Given the description of an element on the screen output the (x, y) to click on. 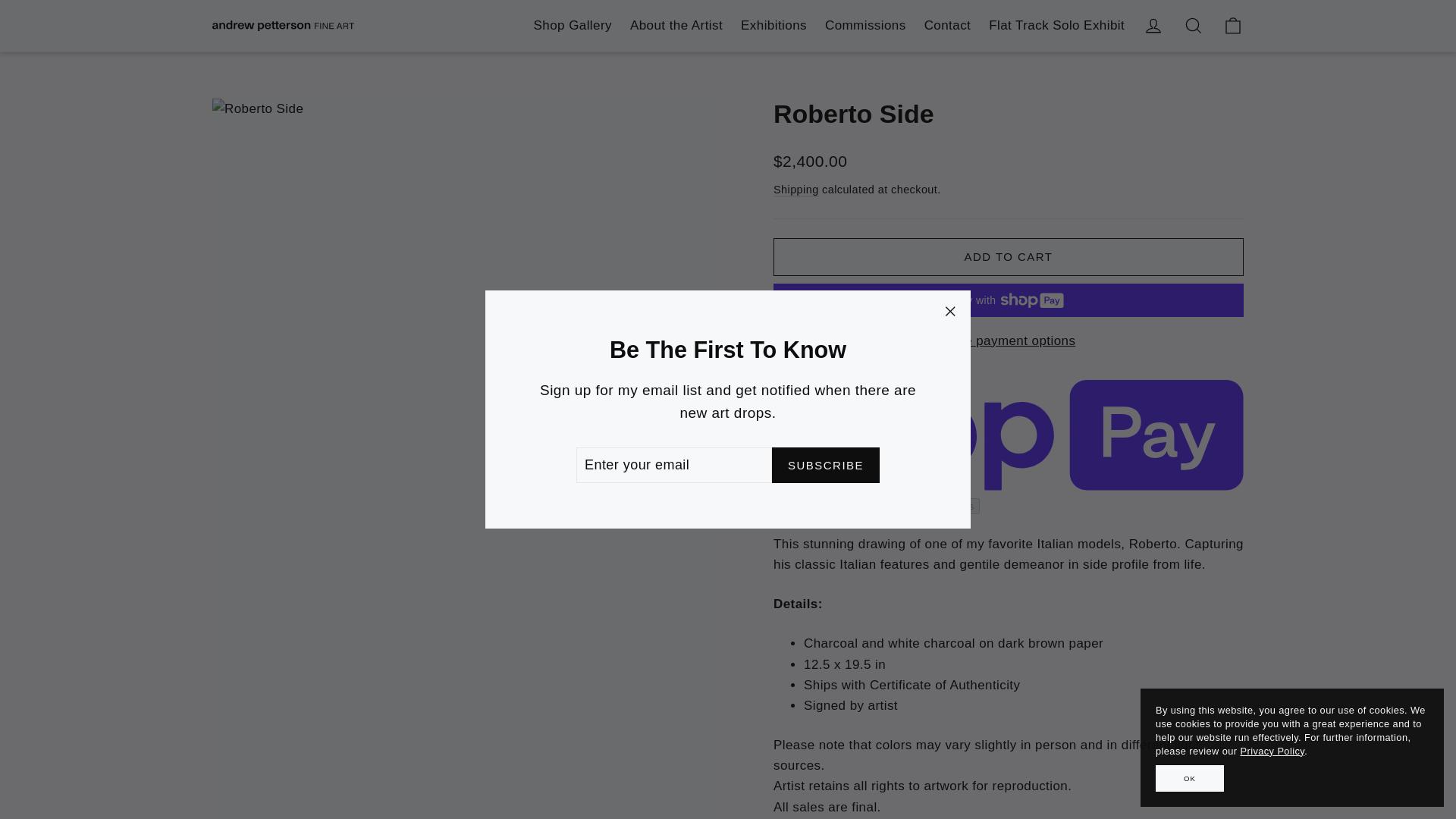
SUBSCRIBE (825, 465)
ADD TO CART (1008, 257)
About the Artist (676, 25)
Privacy Policy (1272, 750)
Log in (1153, 25)
Contact (947, 25)
OK (1190, 777)
Cart (1232, 25)
Shop Gallery (572, 25)
Exhibitions (773, 25)
Flat Track Solo Exhibit (1056, 25)
Shipping (795, 190)
Commissions (865, 25)
More payment options (1008, 341)
Search (1192, 25)
